Given the description of an element on the screen output the (x, y) to click on. 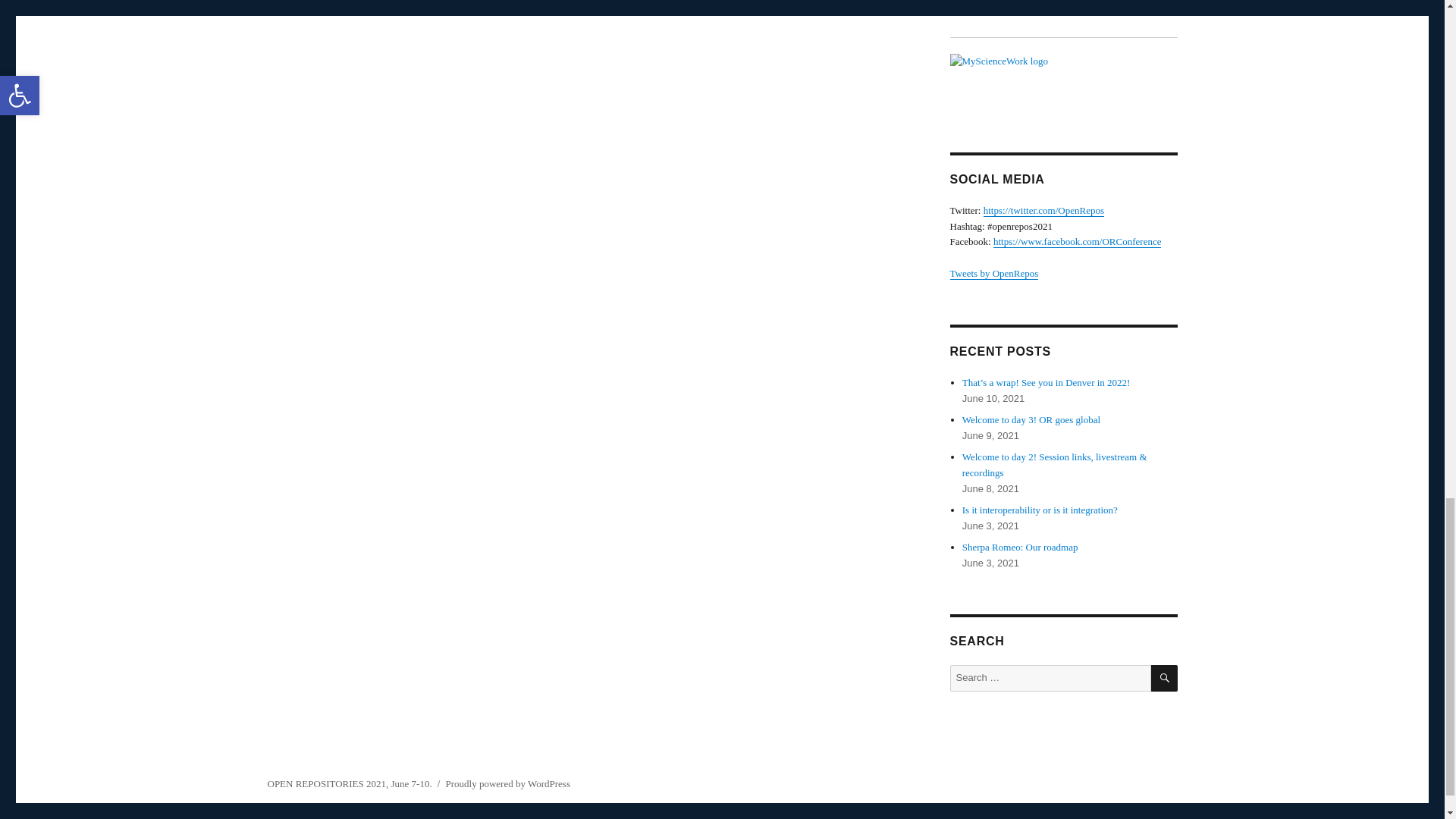
Tweets by OpenRepos (993, 273)
Is it interoperability or is it integration? (1040, 509)
Sherpa Romeo: Our roadmap (1020, 546)
Welcome to day 3! OR goes global (1031, 419)
SEARCH (1164, 678)
